Given the description of an element on the screen output the (x, y) to click on. 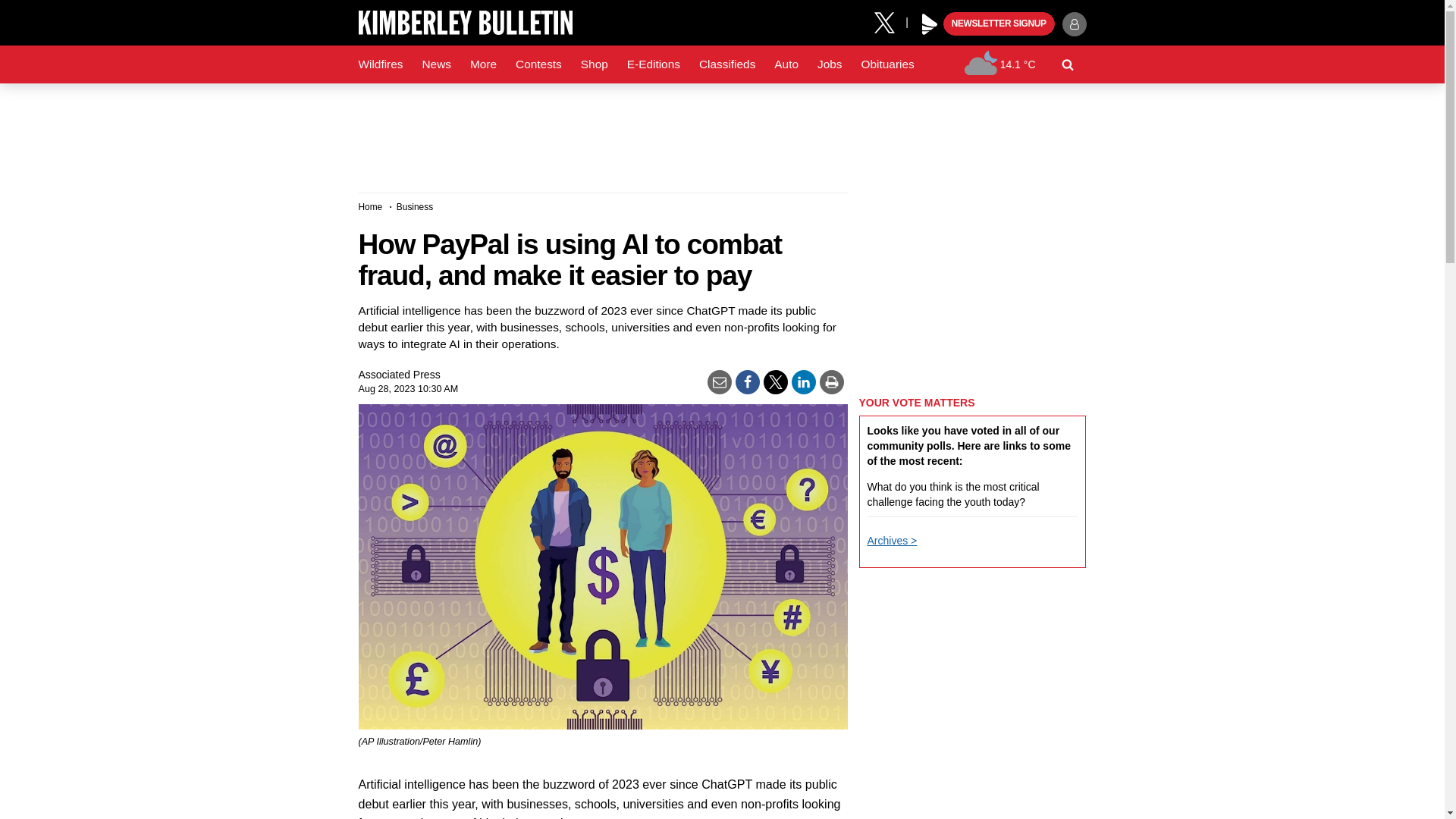
Black Press Media (929, 24)
Wildfires (380, 64)
NEWSLETTER SIGNUP (998, 24)
X (889, 21)
Play (929, 24)
News (435, 64)
